Given the description of an element on the screen output the (x, y) to click on. 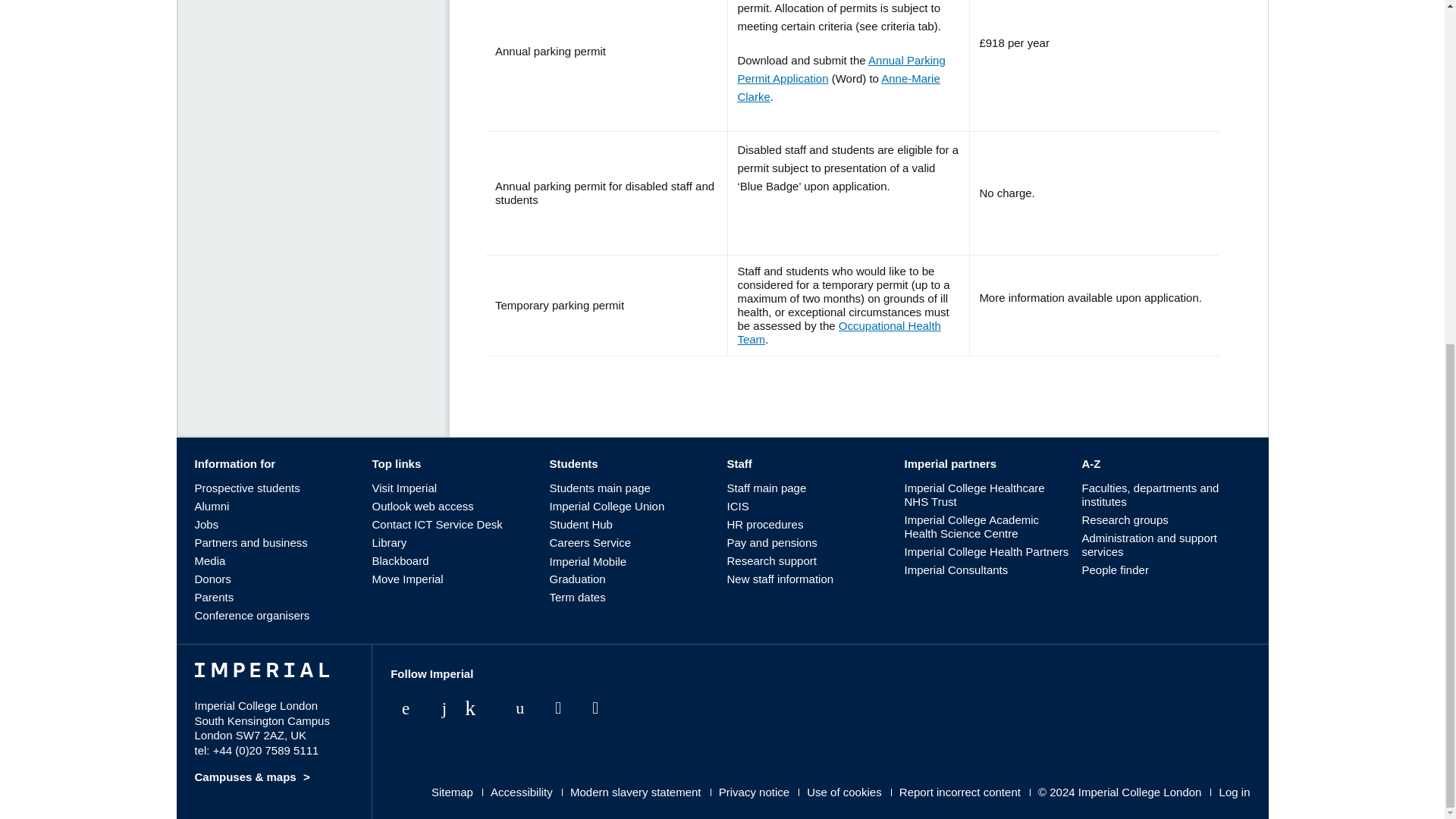
Anne-Marie Clarke link opens in a new window (837, 87)
